Given the description of an element on the screen output the (x, y) to click on. 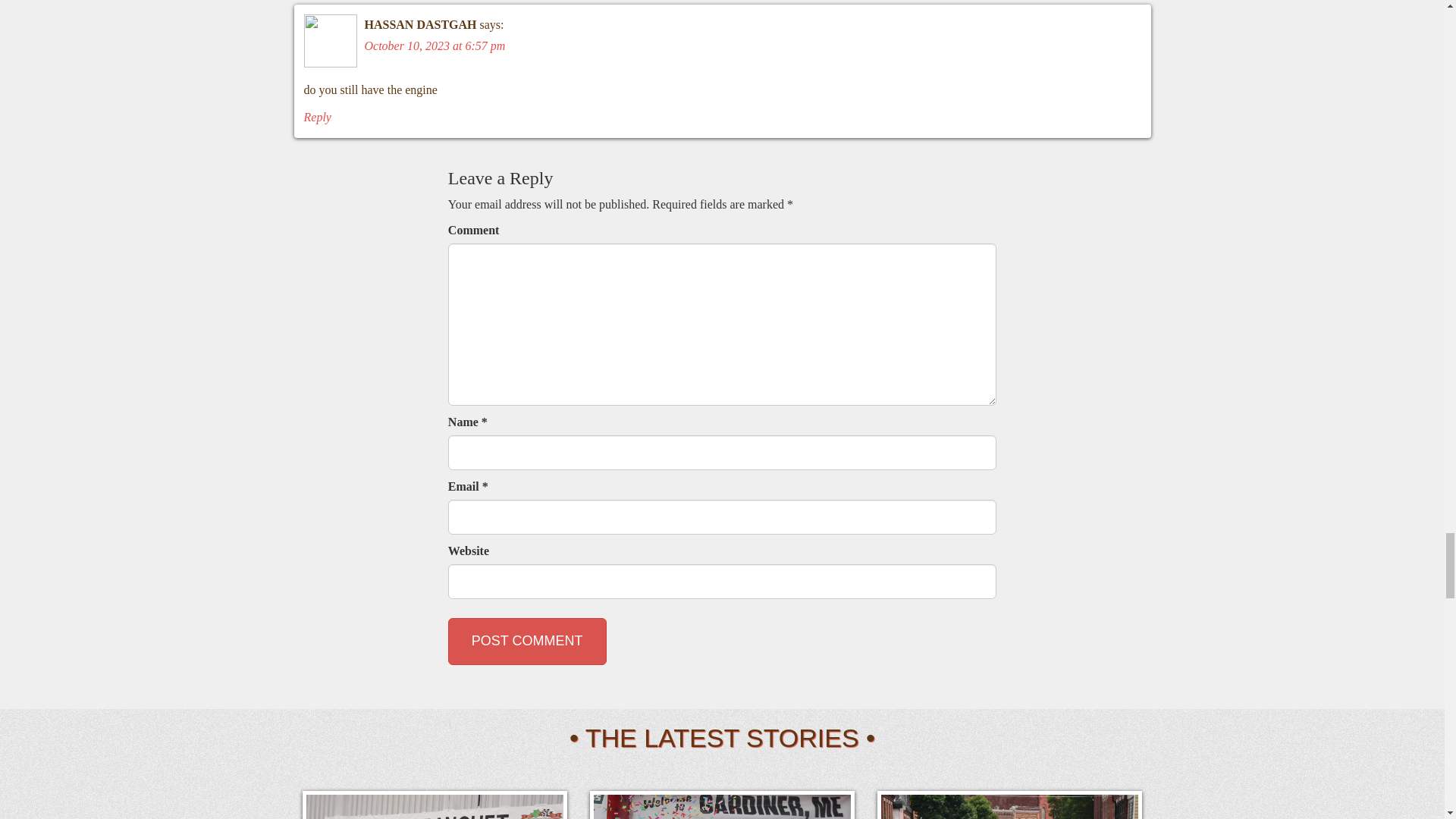
2024 Great Race Awards Banquet (433, 805)
Post Comment (527, 641)
Smiles All Around at the Grand Finish in Gardiner, Maine (1009, 805)
Howard and Doug Sharp Win the 2024 Great Race (721, 805)
